Given the description of an element on the screen output the (x, y) to click on. 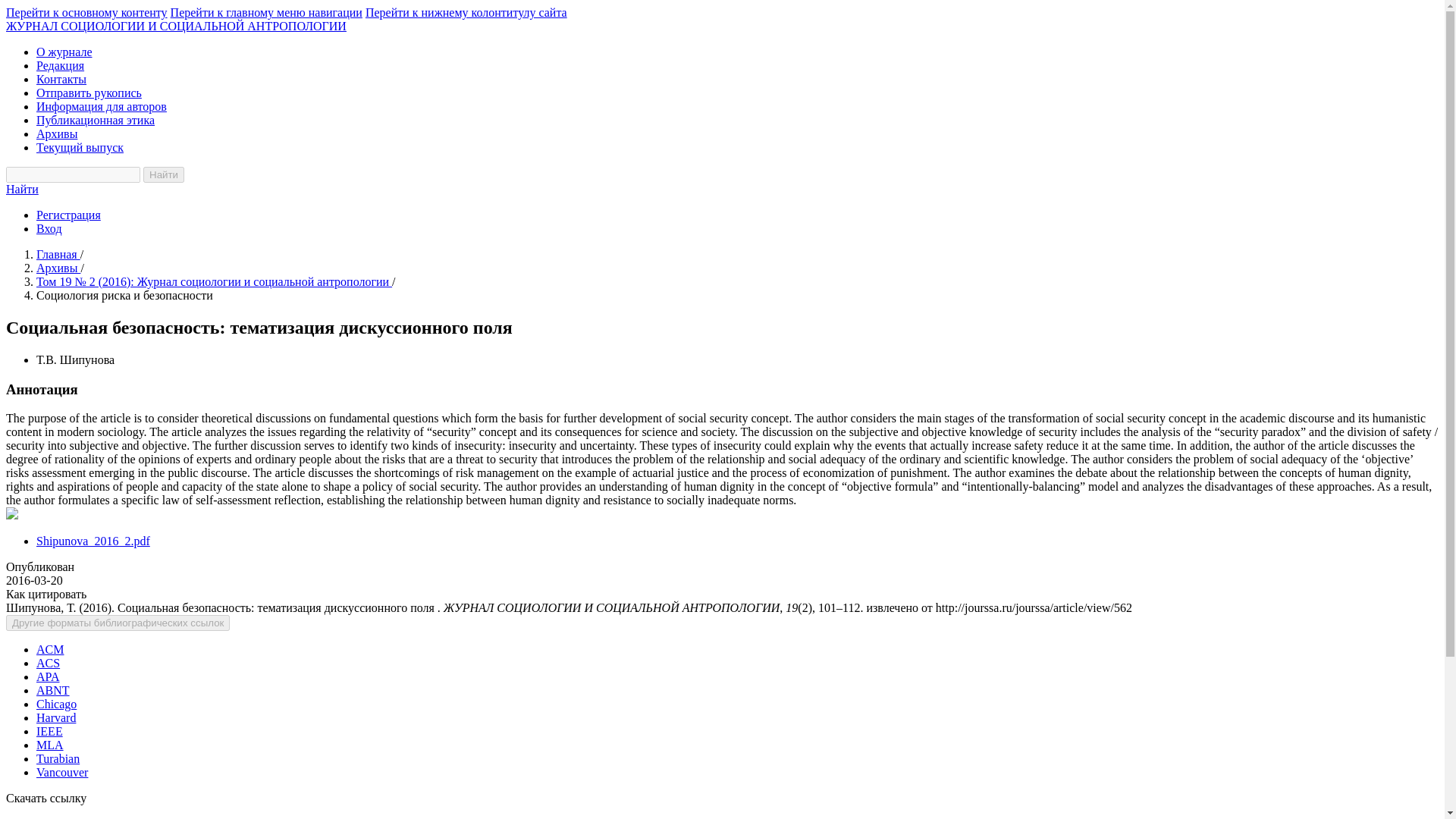
Turabian (58, 758)
Harvard (55, 717)
ABNT (52, 689)
MLA (50, 744)
ACM (50, 649)
Vancouver (61, 771)
APA (47, 676)
ACS (47, 662)
Chicago (56, 703)
IEEE (49, 730)
